Given the description of an element on the screen output the (x, y) to click on. 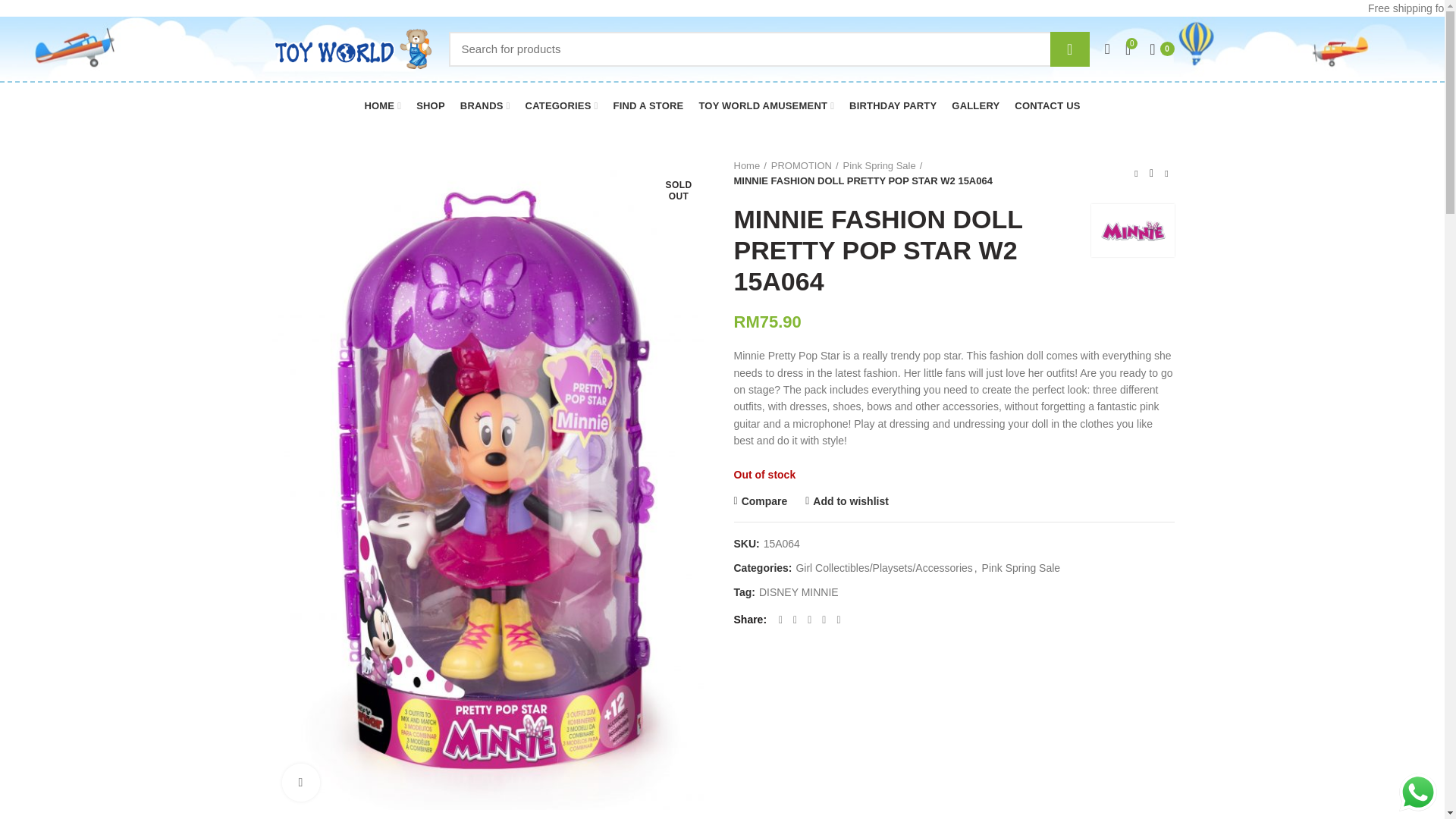
0 (1160, 49)
SHOP (430, 104)
SEARCH (1069, 48)
Shopping cart (1160, 49)
BRANDS (485, 104)
HOME (382, 104)
